Given the description of an element on the screen output the (x, y) to click on. 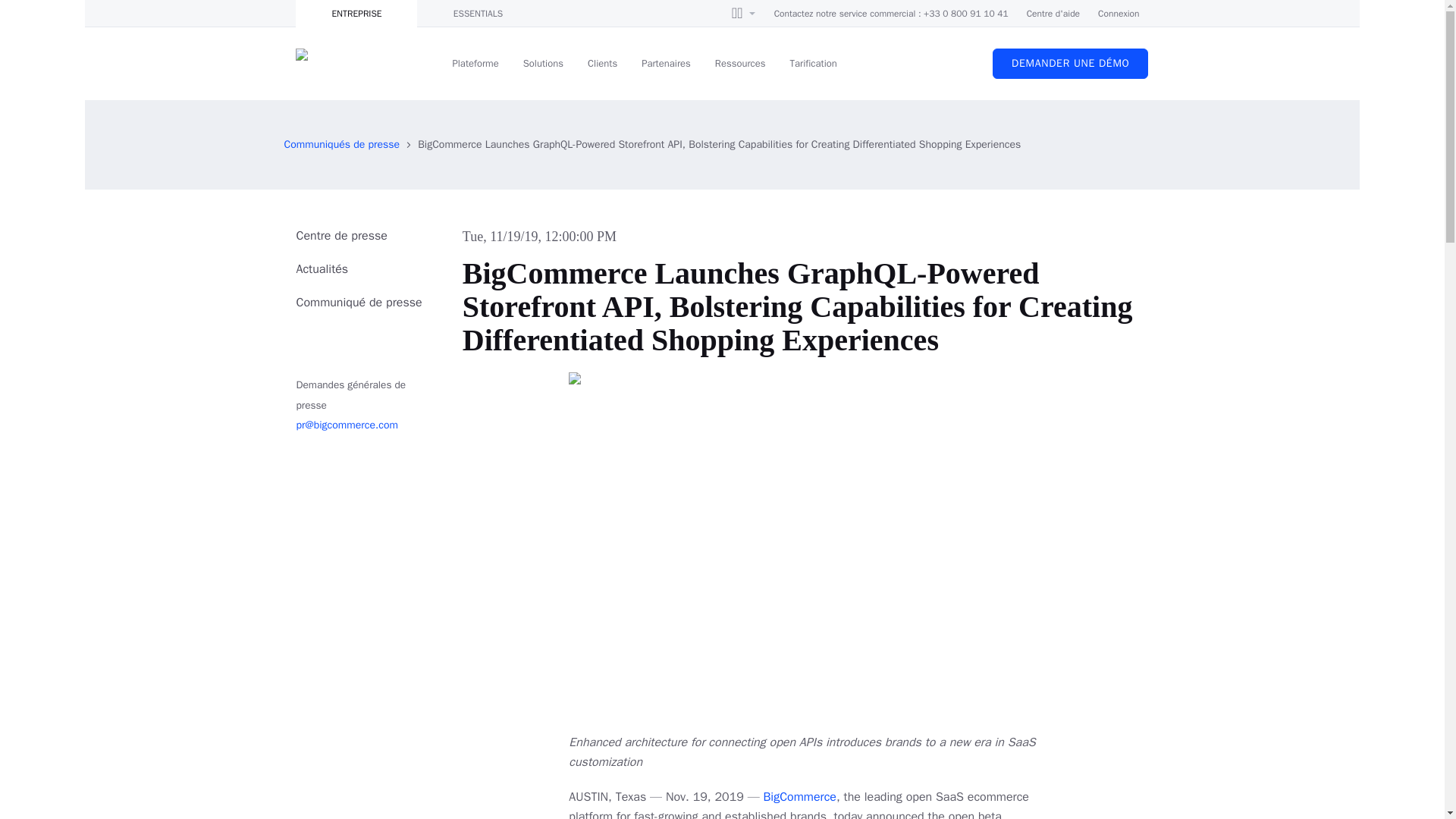
ENTREPRISE (355, 13)
ESSENTIALS (477, 13)
Connexion (1117, 13)
Plateforme (475, 63)
Centre d'aide (1053, 13)
